Given the description of an element on the screen output the (x, y) to click on. 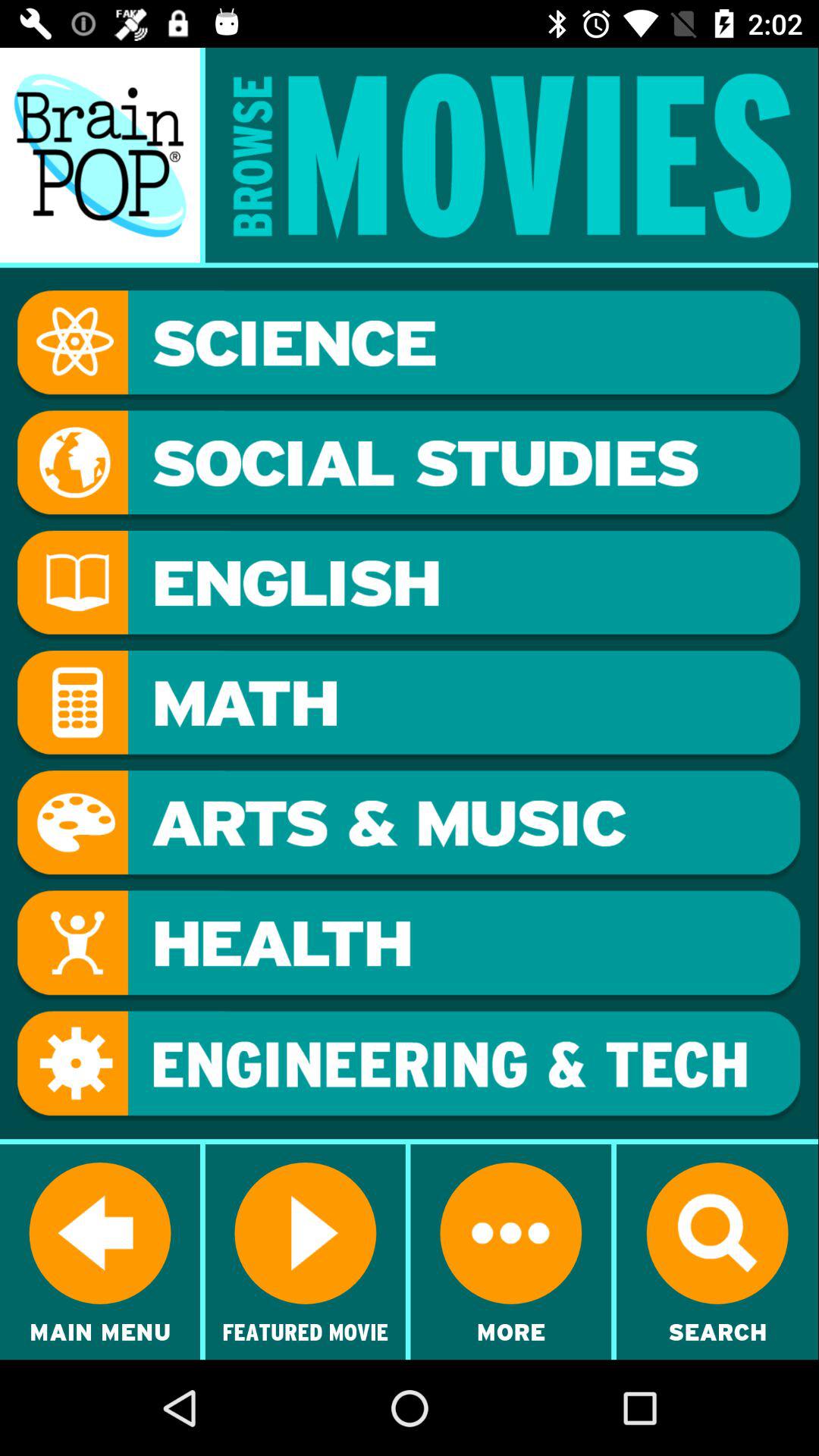
show movies in the social studies category (408, 464)
